Given the description of an element on the screen output the (x, y) to click on. 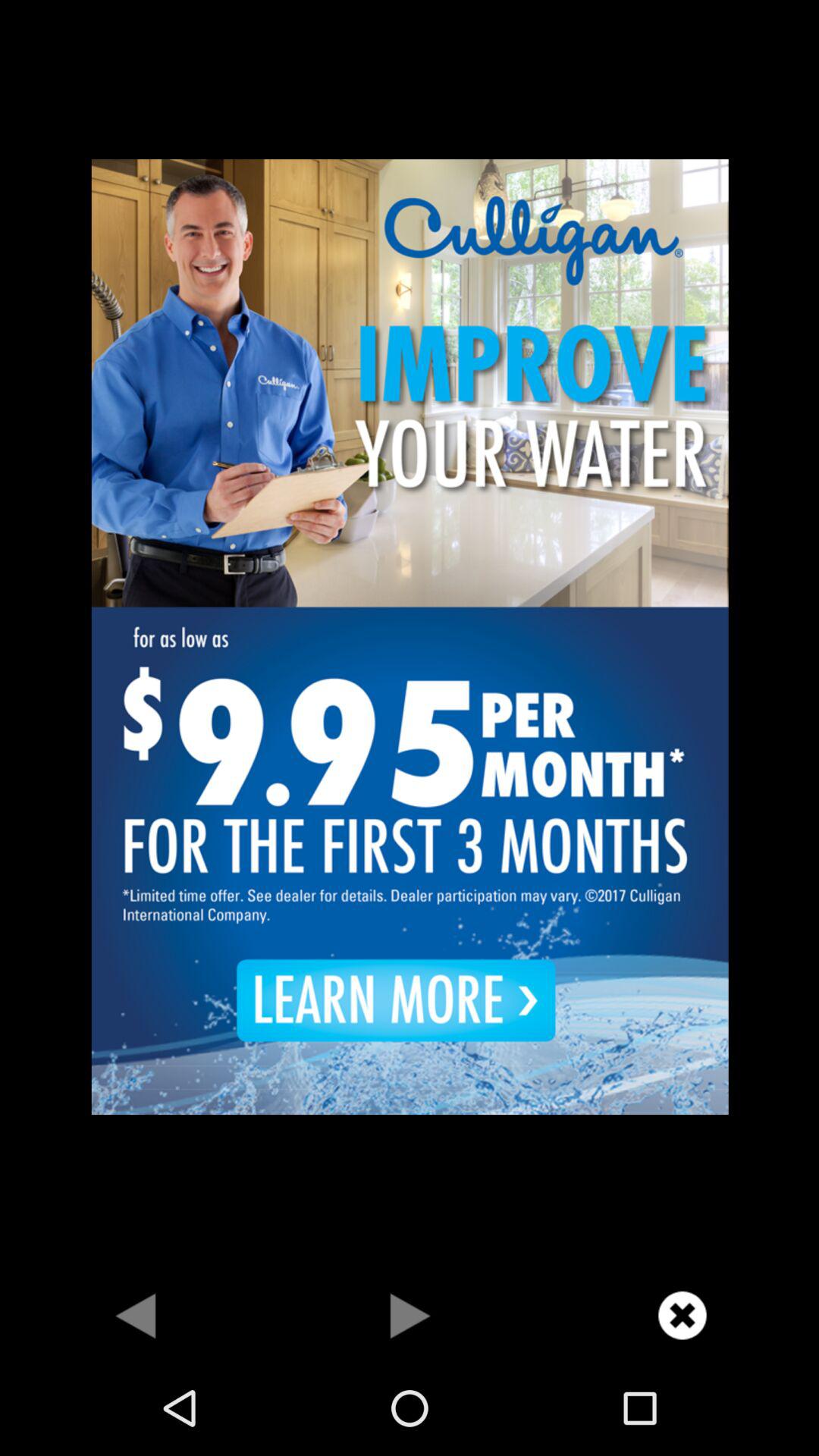
back the page (136, 1315)
